Given the description of an element on the screen output the (x, y) to click on. 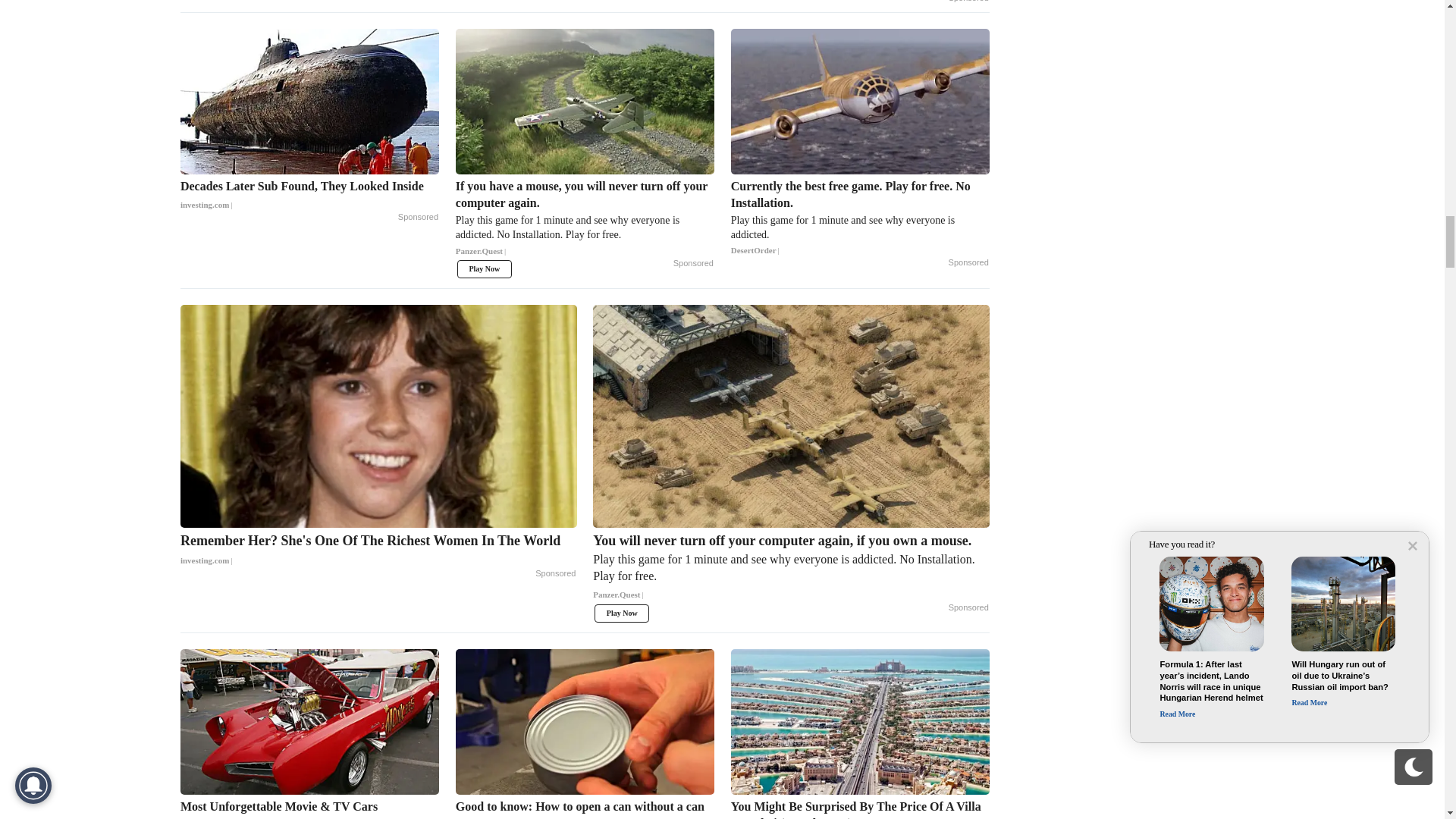
Decades Later Sub Found, They Looked Inside (309, 195)
